Given the description of an element on the screen output the (x, y) to click on. 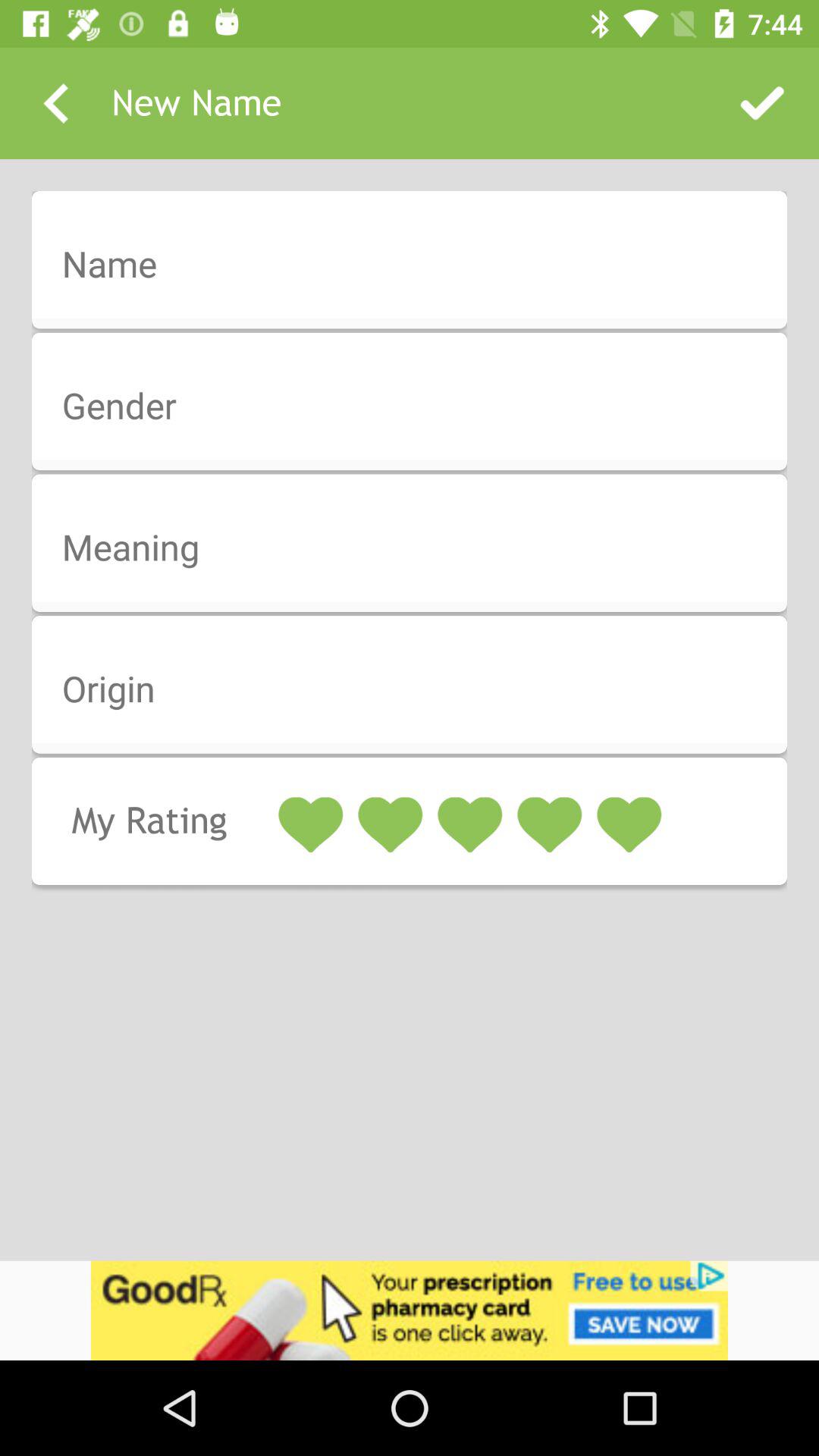
enter gender (419, 406)
